Given the description of an element on the screen output the (x, y) to click on. 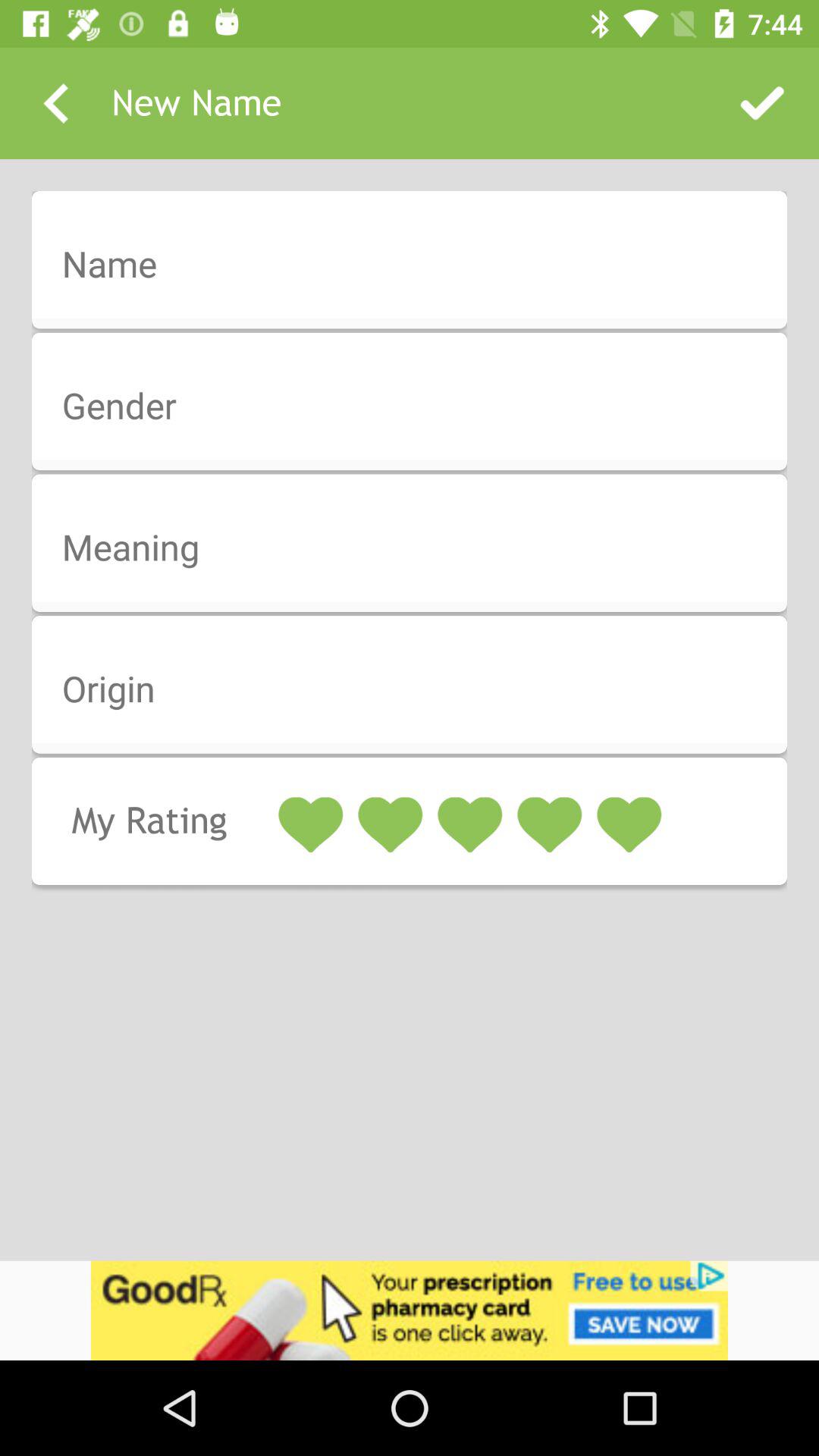
enter gender (419, 406)
